Given the description of an element on the screen output the (x, y) to click on. 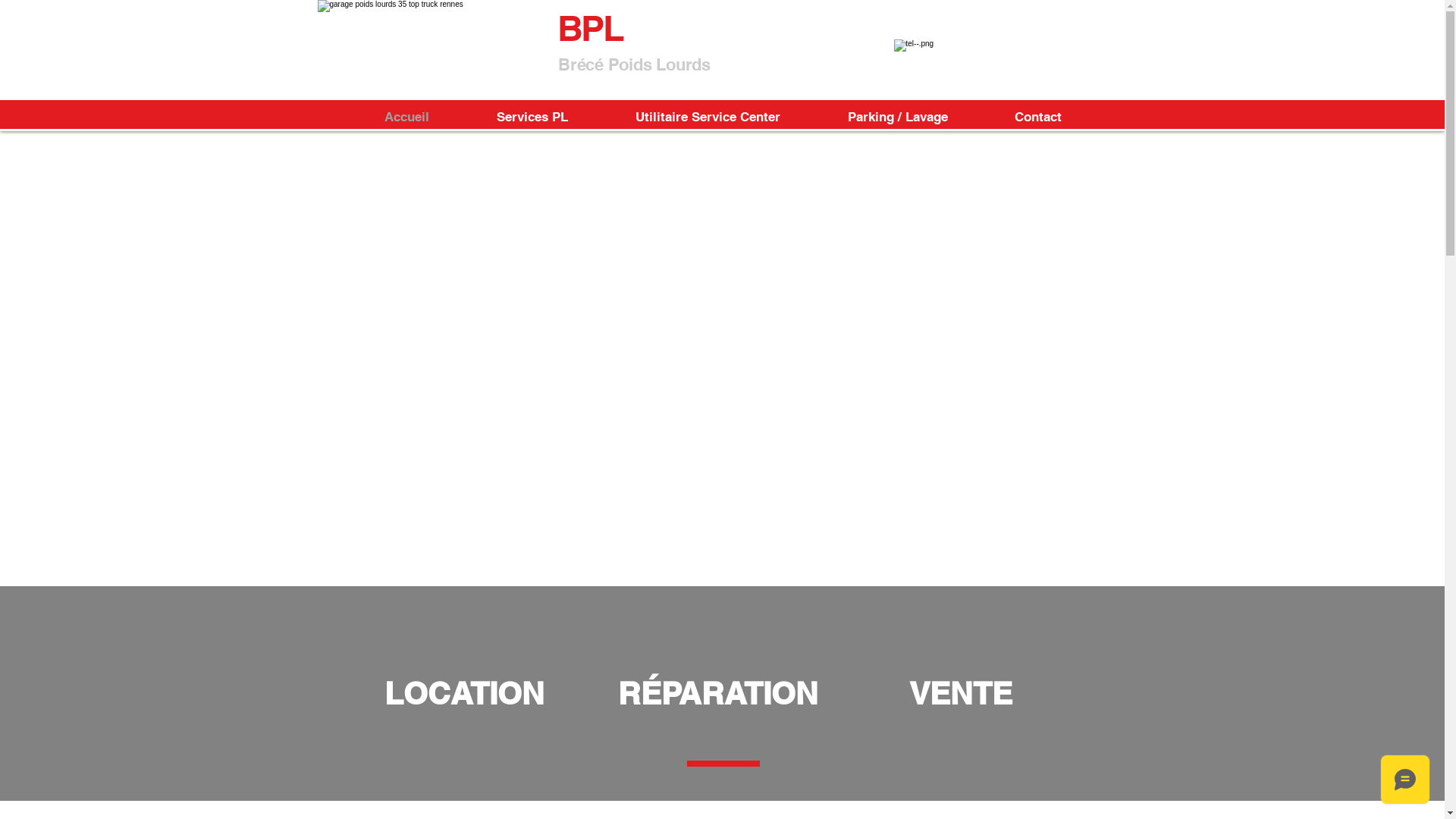
Services PL Element type: text (531, 115)
Accueil Element type: text (406, 115)
Contact Element type: text (1038, 115)
Utilitaire Service Center Element type: text (708, 115)
Parking / Lavage Element type: text (897, 115)
